Given the description of an element on the screen output the (x, y) to click on. 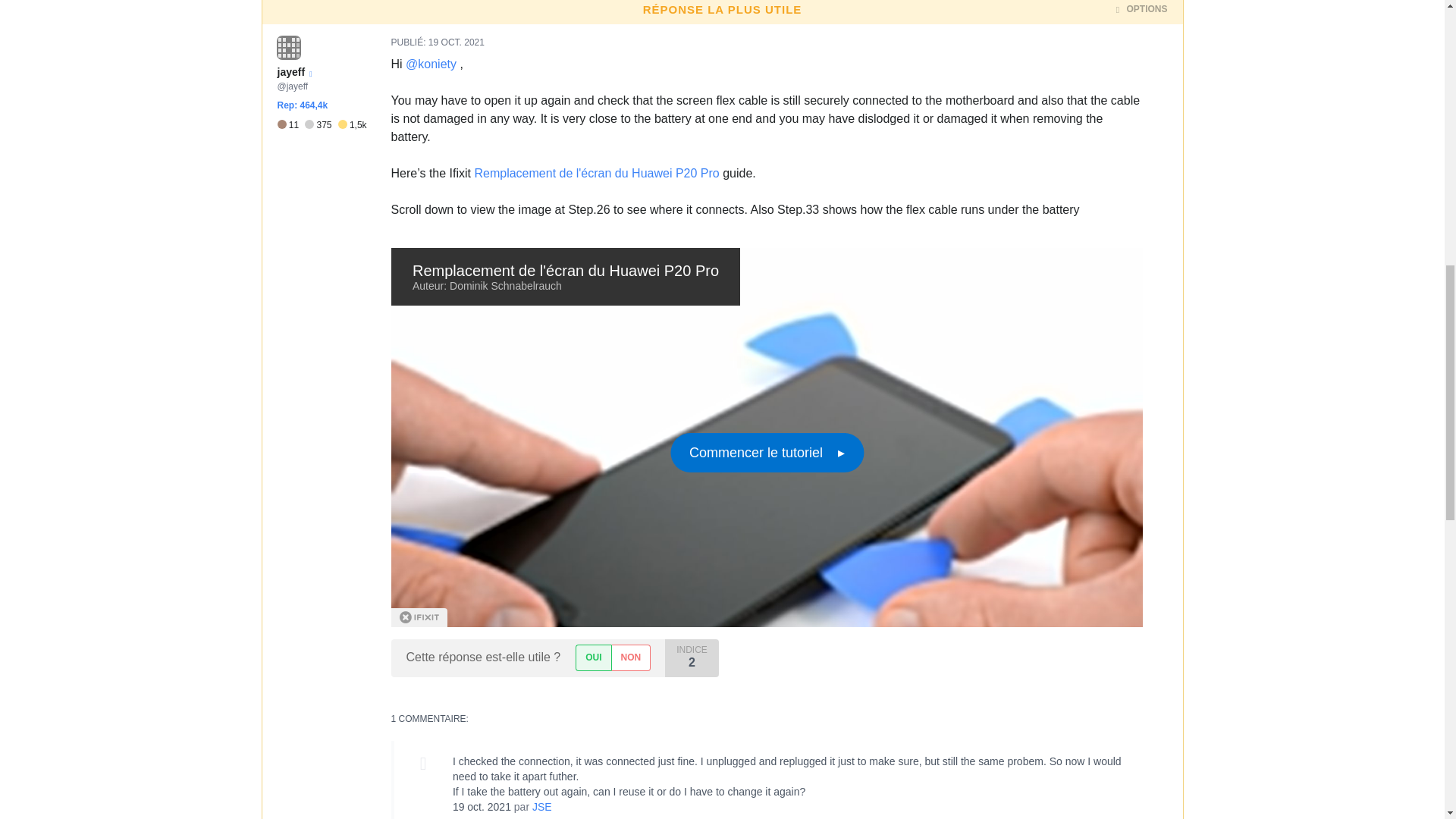
Tue, 19 Oct 2021 07:52:56 -0700 (456, 41)
Tue, 19 Oct 2021 10:09:36 -0700 (481, 806)
375 badges Argent (320, 124)
1509 badges Or (351, 124)
11 badges Bronze (291, 124)
